Given the description of an element on the screen output the (x, y) to click on. 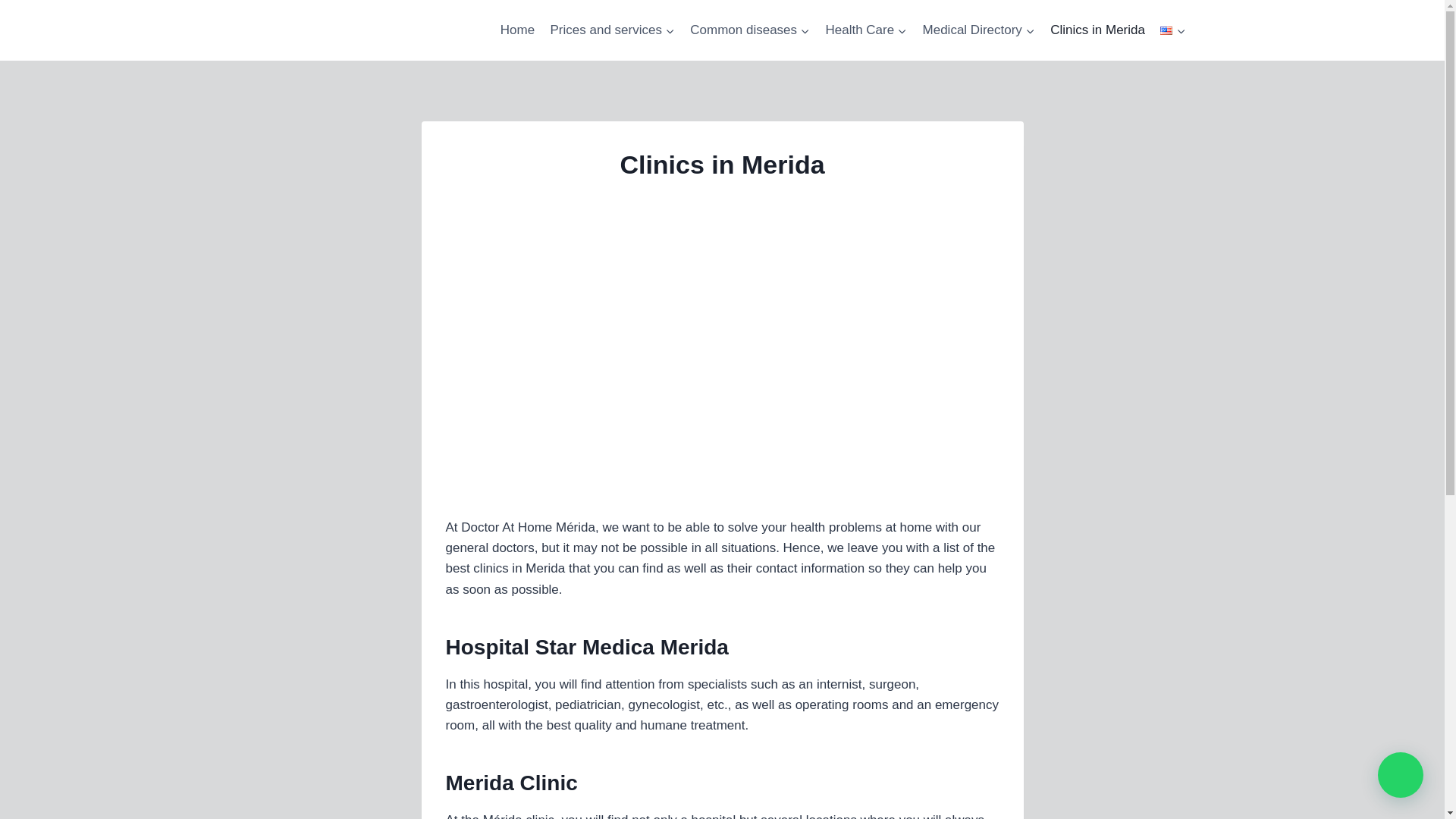
Common diseases (749, 30)
Prices and services (611, 30)
Home (518, 30)
Health Care (865, 30)
